Given the description of an element on the screen output the (x, y) to click on. 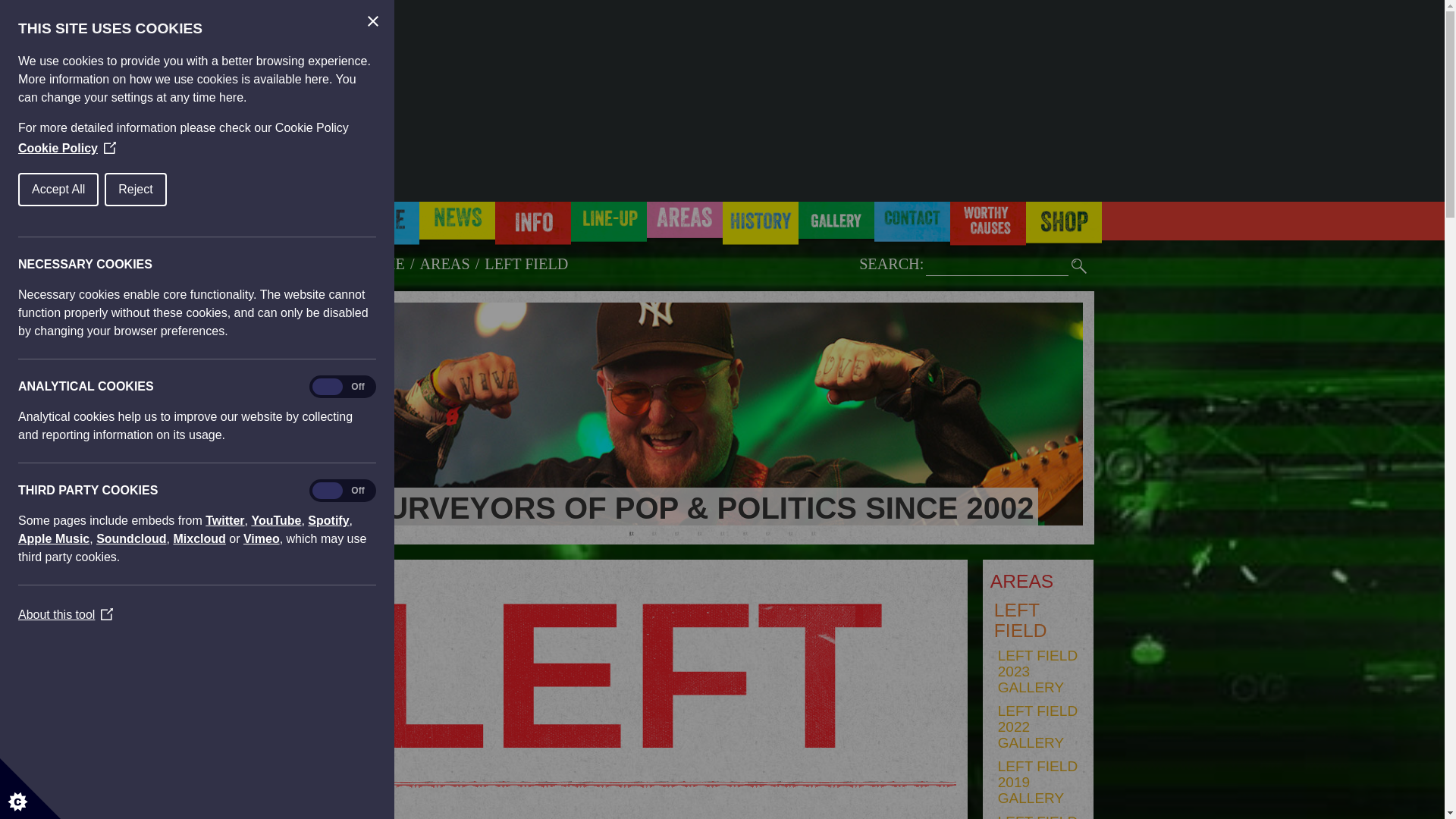
Shop (1062, 227)
Mixcloud (177, 538)
Twitter (84, 520)
Home (380, 227)
YouTube (180, 520)
Info (532, 227)
Go to Areas. (445, 263)
News (457, 227)
History (759, 227)
Go to Left Field. (526, 263)
Areas (684, 227)
Apple Music (19, 538)
Gallery (835, 227)
Spotify (250, 520)
Vimeo (250, 538)
